Given the description of an element on the screen output the (x, y) to click on. 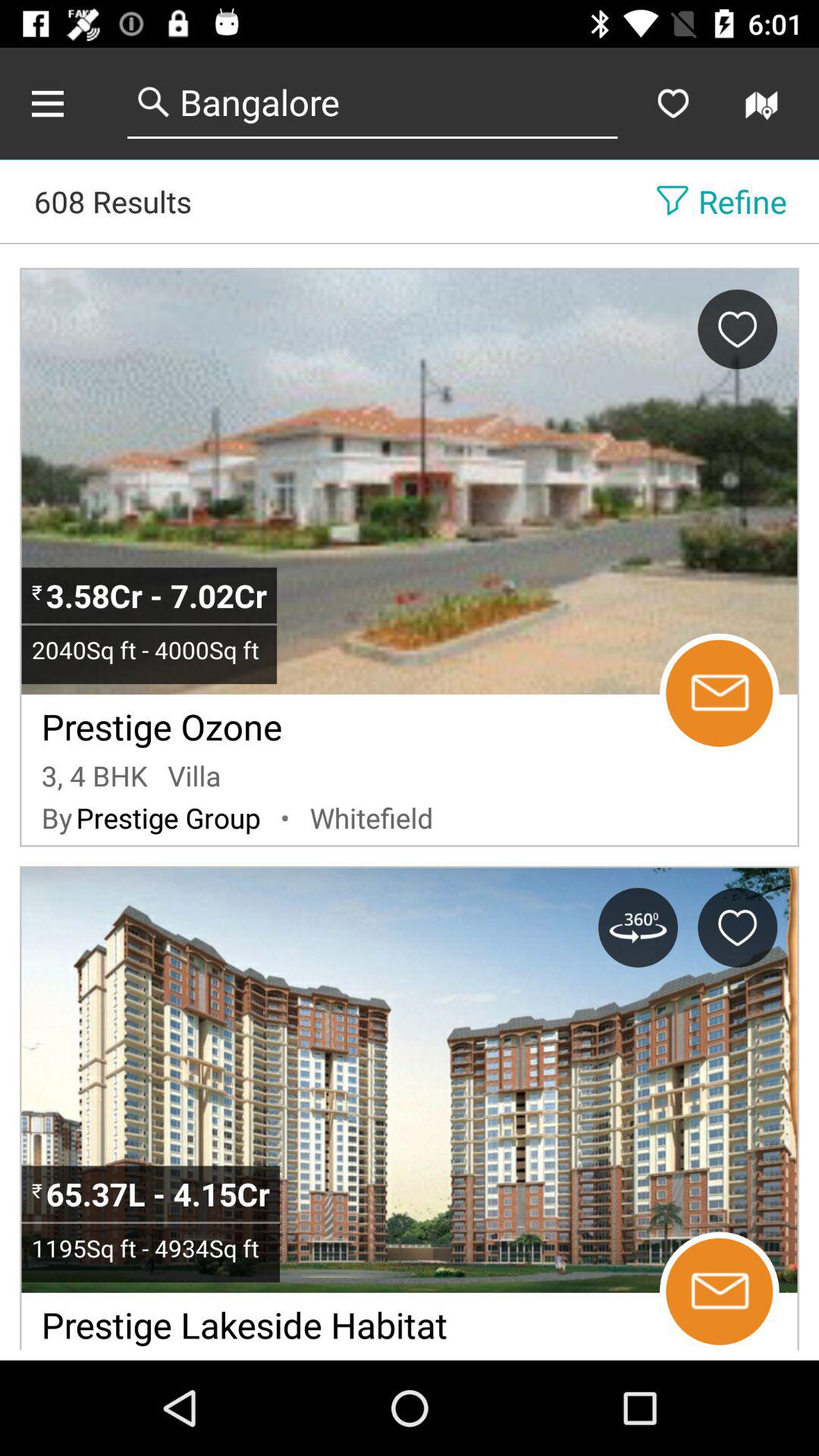
toggle love reaction (737, 329)
